Given the description of an element on the screen output the (x, y) to click on. 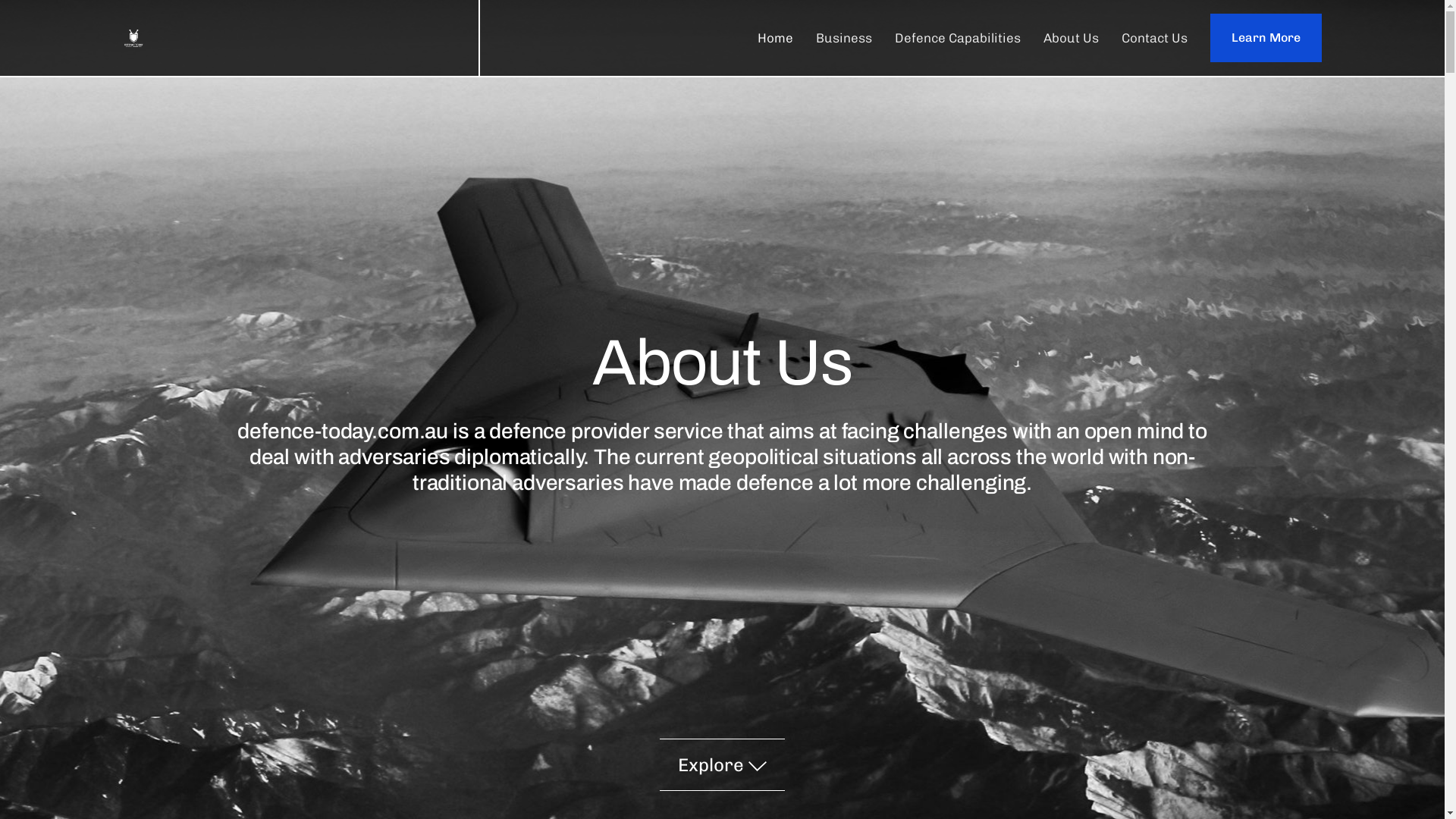
Learn More Element type: text (1265, 37)
About Us Element type: text (1070, 37)
Business Element type: text (843, 37)
Contact Us Element type: text (1153, 37)
Home Element type: text (774, 37)
Defence Capabilities Element type: text (957, 37)
Explore Element type: text (721, 764)
